Given the description of an element on the screen output the (x, y) to click on. 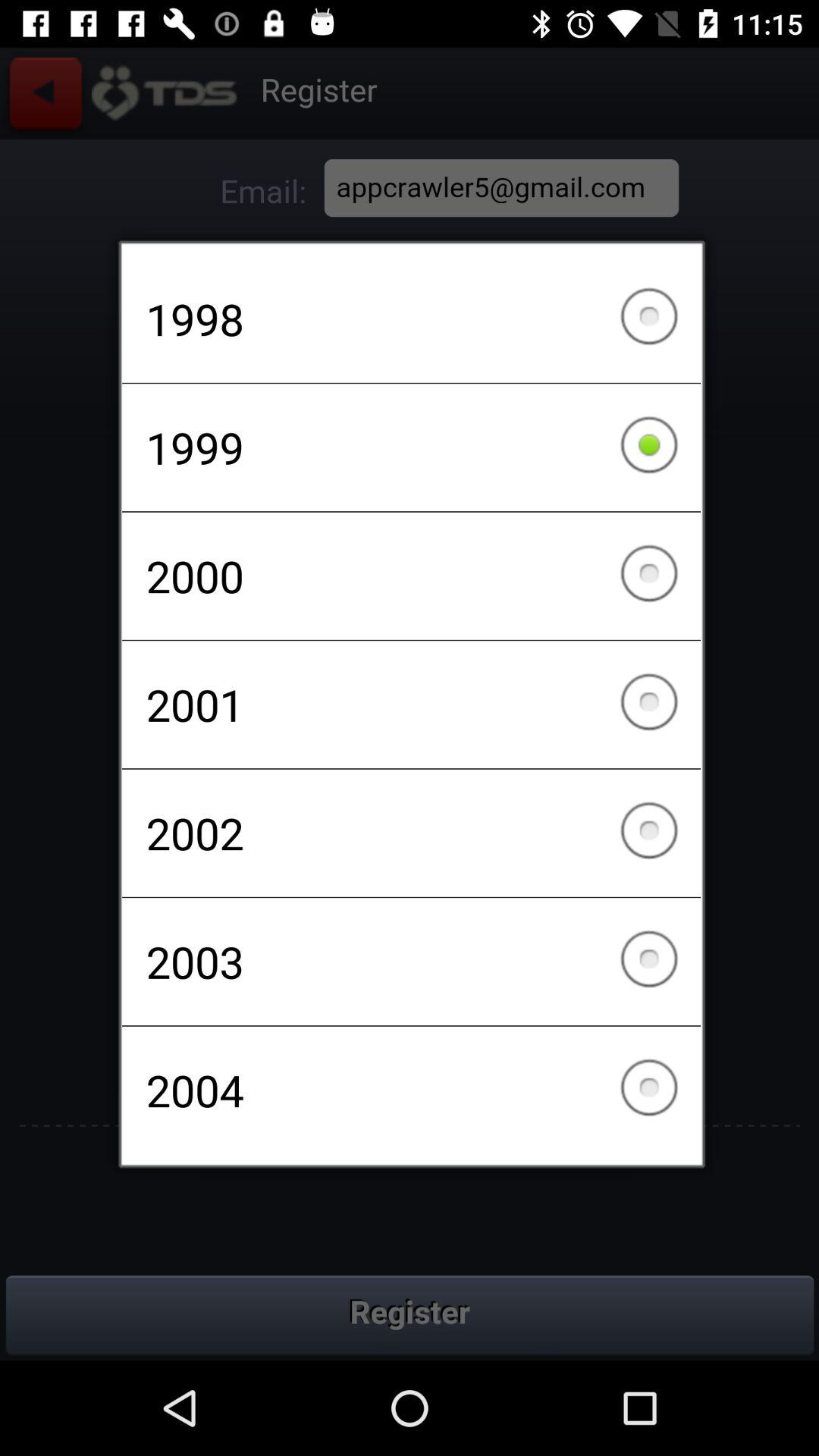
open the icon above the 2003 item (411, 832)
